Given the description of an element on the screen output the (x, y) to click on. 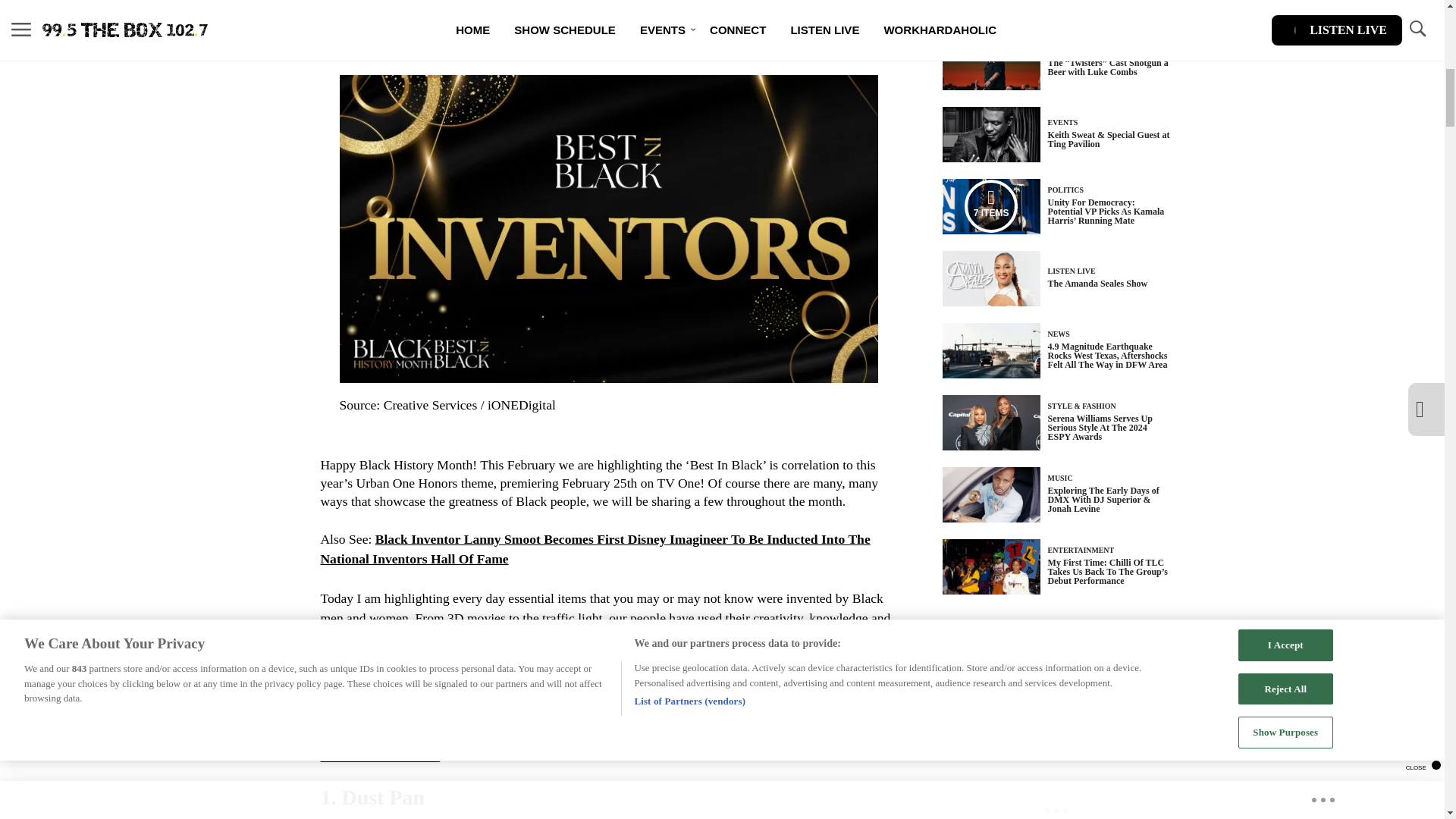
Best In Black: Essential Items Invented By Black People (521, 696)
Black America Web (823, 696)
Best In Black: Essential Items Invented By Black People (470, 735)
EVENTS (1063, 121)
ENTERTAINMENT (1081, 49)
blackamericaweb.com (379, 755)
7 ITEMS (991, 206)
Media Playlist (990, 205)
